Given the description of an element on the screen output the (x, y) to click on. 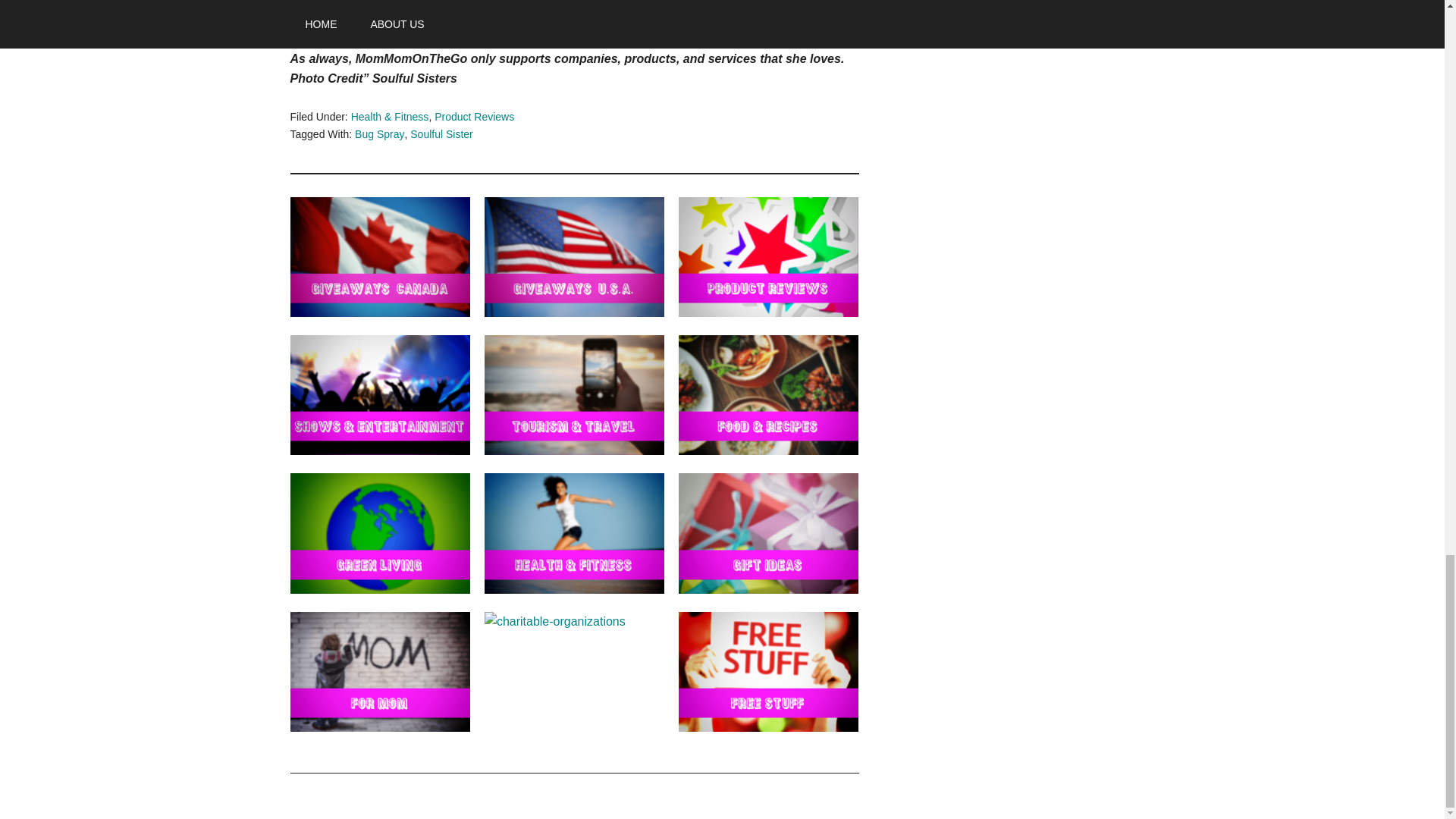
Product Reviews (473, 116)
Pinterest (313, 2)
Soulful Sister (440, 133)
Bug Spray (379, 133)
